Given the description of an element on the screen output the (x, y) to click on. 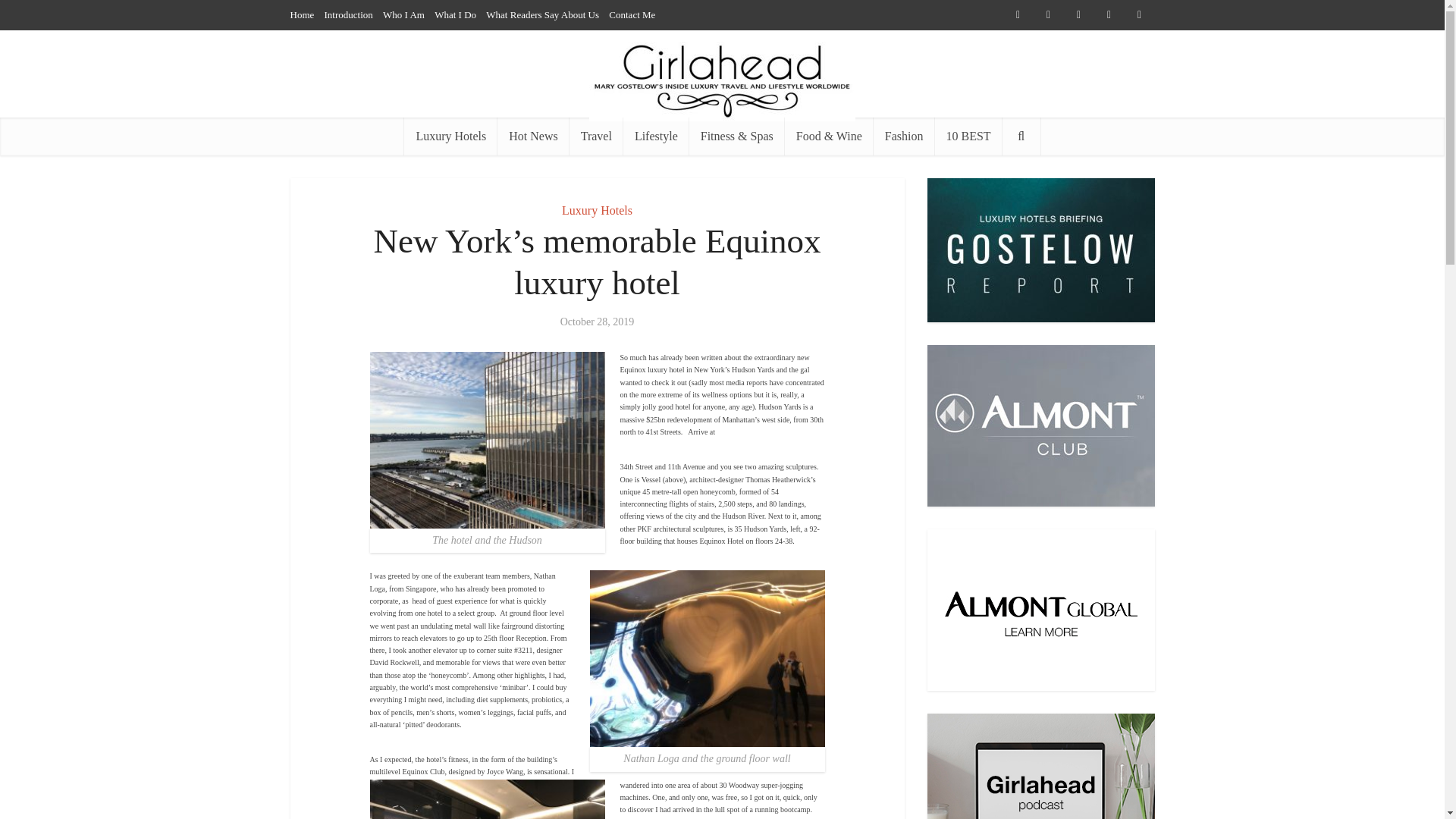
Hot News (533, 136)
Home (301, 14)
Luxury Hotels (450, 136)
Fashion (903, 136)
Contact Me (631, 14)
Who I Am (403, 14)
Introduction (348, 14)
Lifestyle (655, 136)
10 BEST (967, 136)
Luxury Hotels (596, 210)
Travel (596, 136)
What Readers Say About Us (542, 14)
What I Do (454, 14)
